Given the description of an element on the screen output the (x, y) to click on. 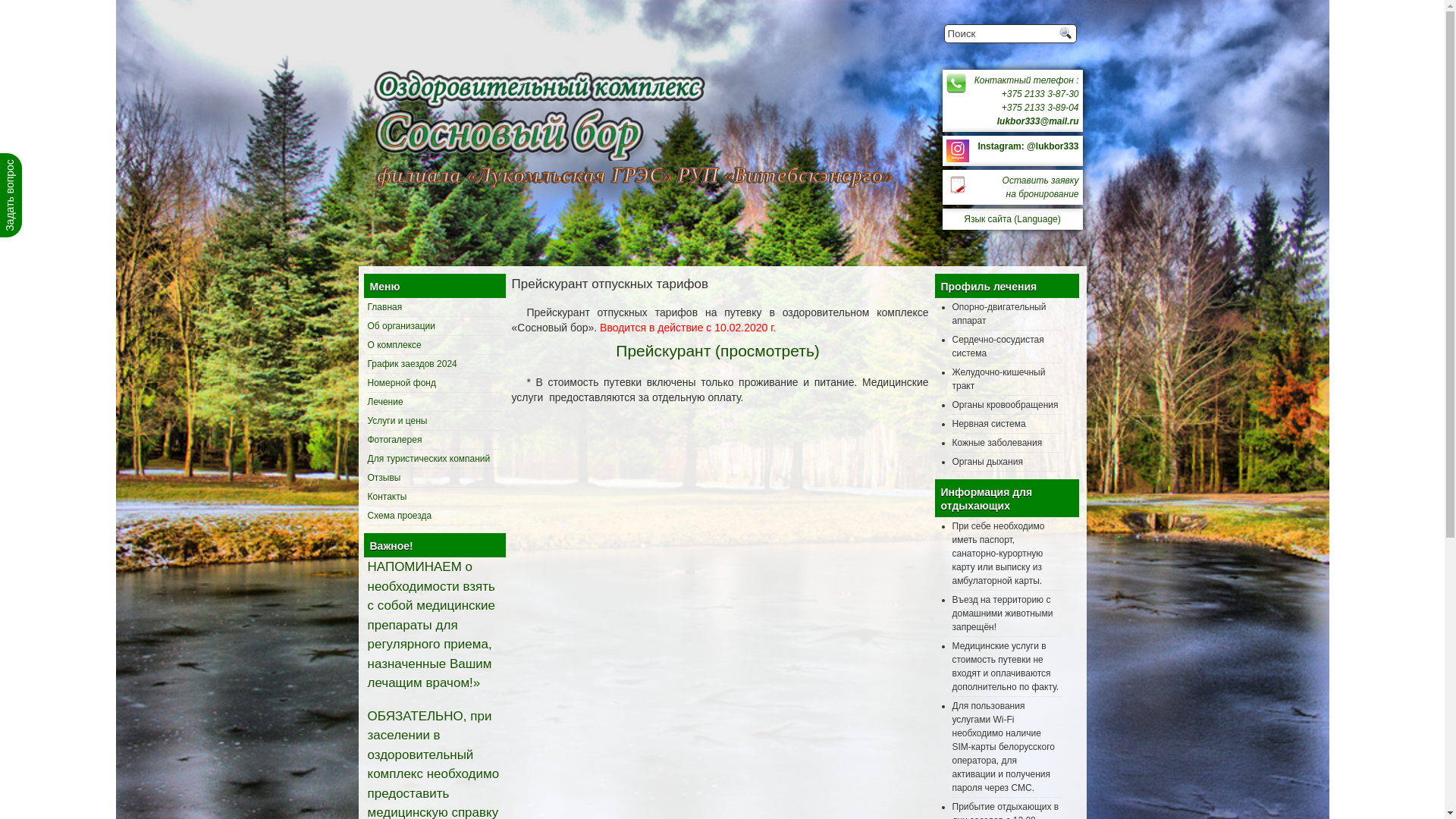
lukbor333@mail.ru Element type: text (1038, 121)
Instagram: @lukbor333 Element type: text (1027, 146)
